Given the description of an element on the screen output the (x, y) to click on. 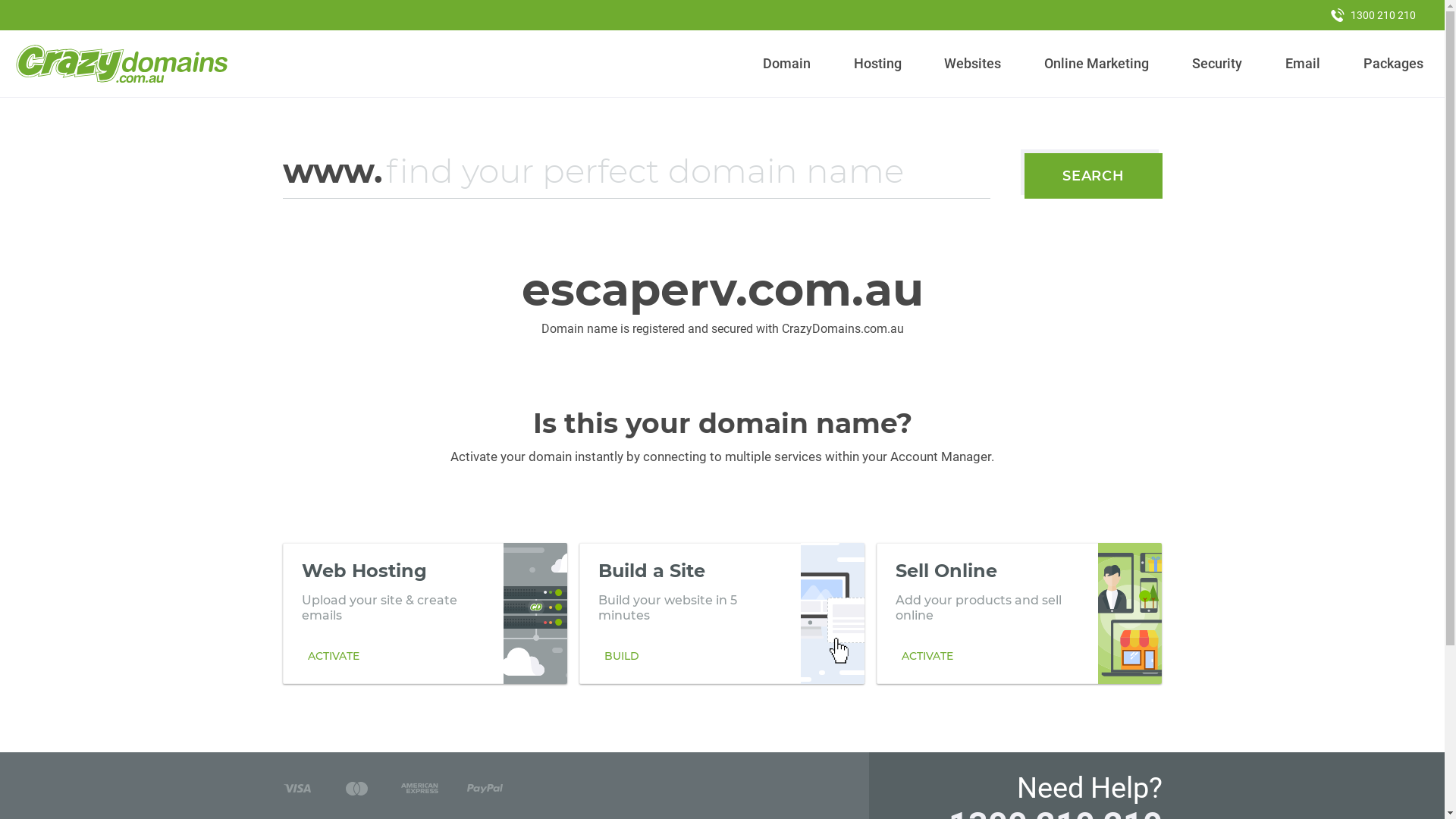
Sell Online
Add your products and sell online
ACTIVATE Element type: text (1018, 613)
Email Element type: text (1302, 63)
Packages Element type: text (1392, 63)
Websites Element type: text (972, 63)
Web Hosting
Upload your site & create emails
ACTIVATE Element type: text (424, 613)
Build a Site
Build your website in 5 minutes
BUILD Element type: text (721, 613)
Security Element type: text (1217, 63)
Hosting Element type: text (877, 63)
SEARCH Element type: text (1092, 175)
Online Marketing Element type: text (1096, 63)
Domain Element type: text (786, 63)
1300 210 210 Element type: text (1373, 15)
